Given the description of an element on the screen output the (x, y) to click on. 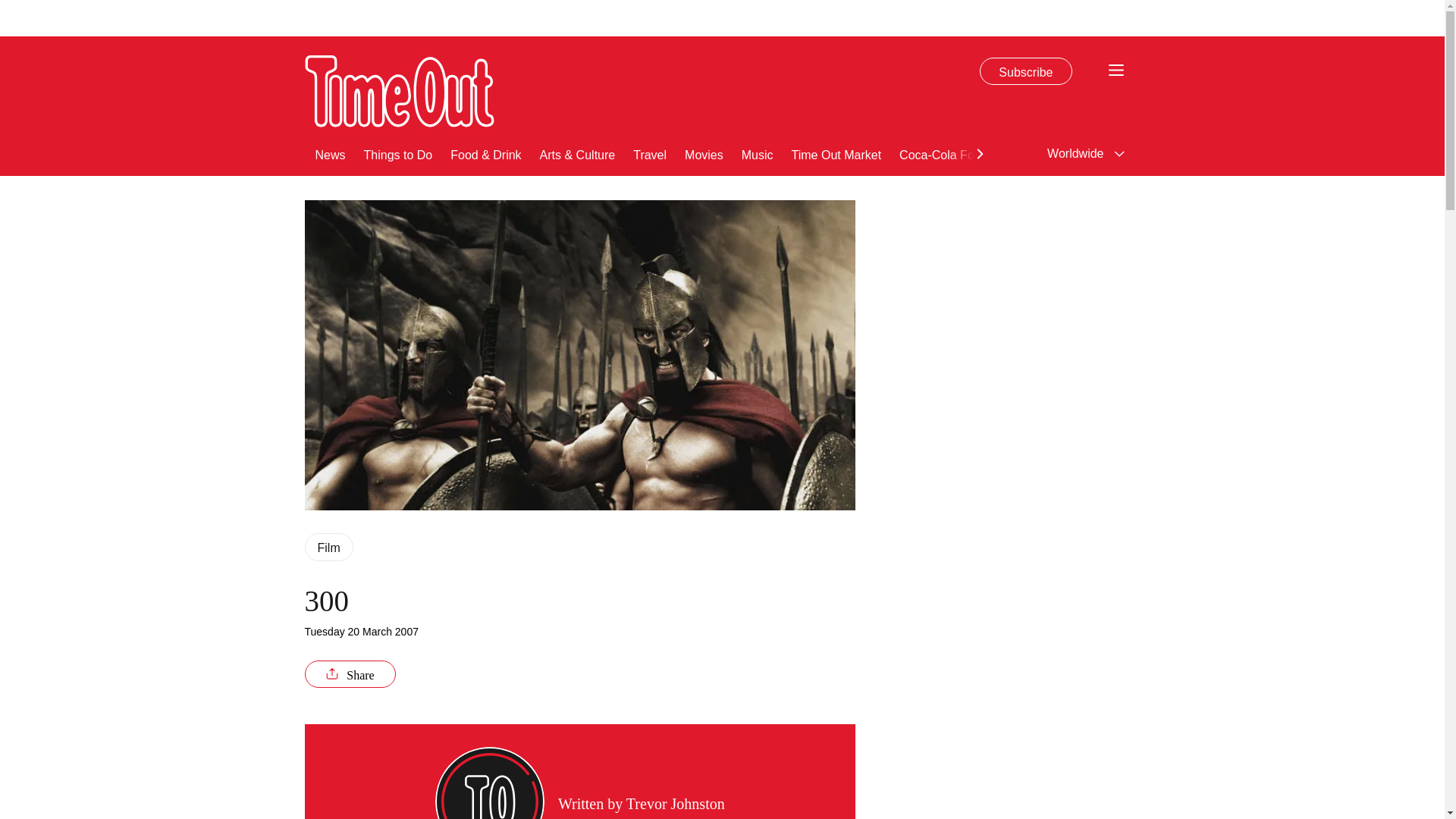
Music (756, 153)
Movies (703, 153)
Travel (649, 153)
Things to Do (397, 153)
Time Out Market (836, 153)
Go to the content (10, 7)
Coca-Cola Foodmarks (960, 153)
Subscribe (1025, 71)
News (330, 153)
